Given the description of an element on the screen output the (x, y) to click on. 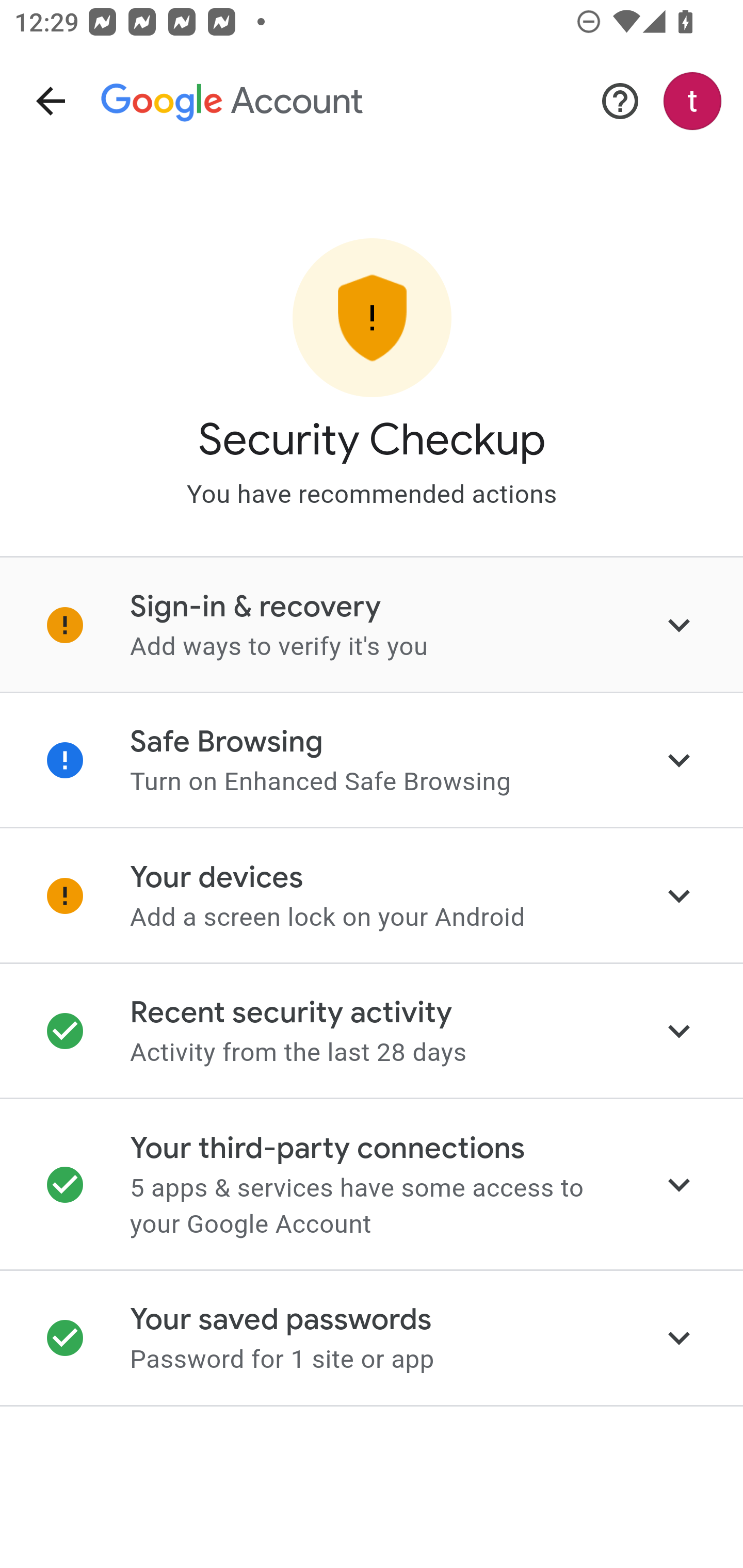
Navigate up (50, 101)
Help & feedback (619, 101)
Safe Browsing Turn on Enhanced Safe Browsing (371, 760)
Your saved passwords Password for 1 site or app (371, 1338)
